Given the description of an element on the screen output the (x, y) to click on. 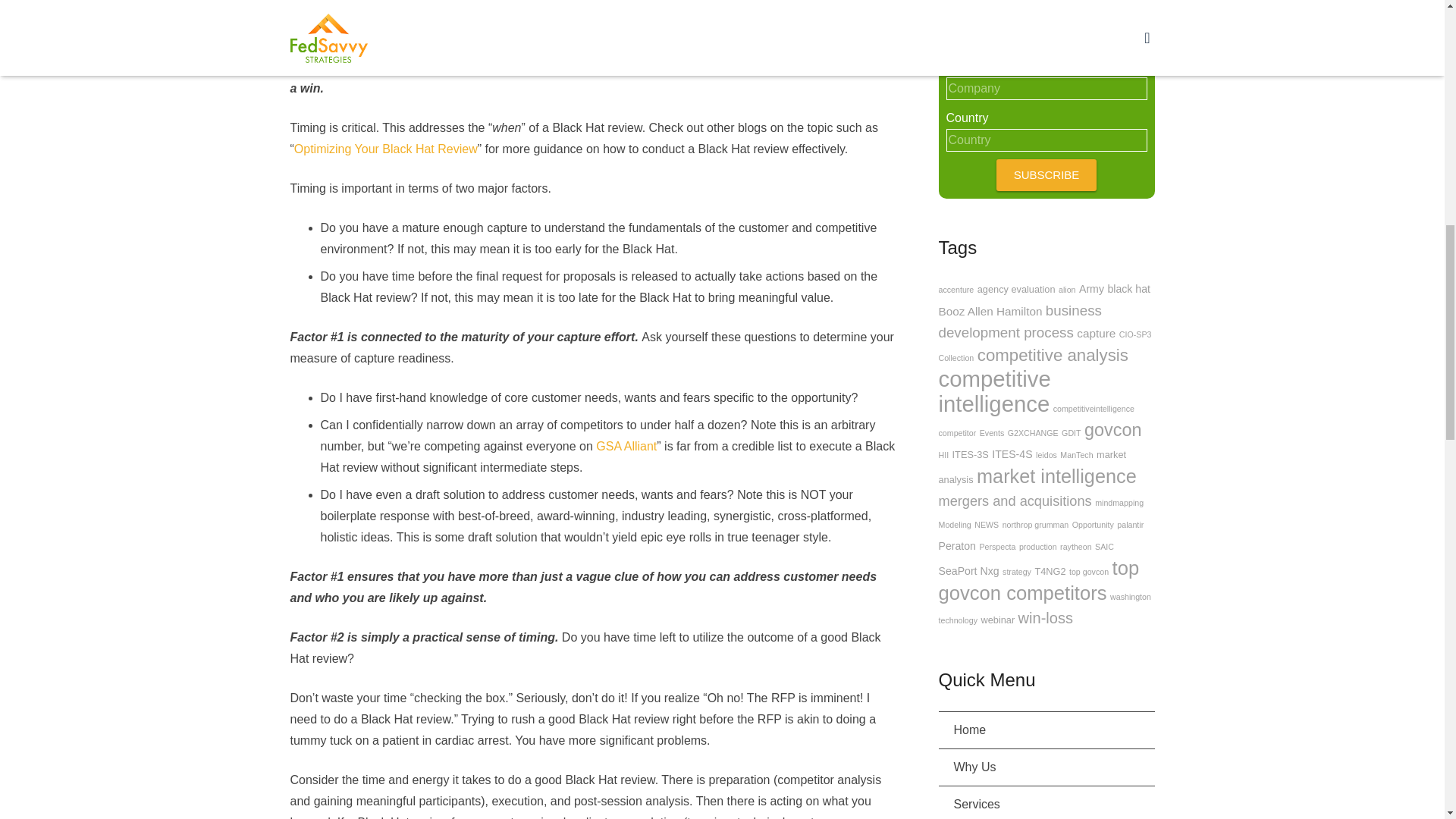
GSA Alliant (625, 445)
Back to top (1411, 21)
Optimizing Your Black Hat Review (385, 148)
